Given the description of an element on the screen output the (x, y) to click on. 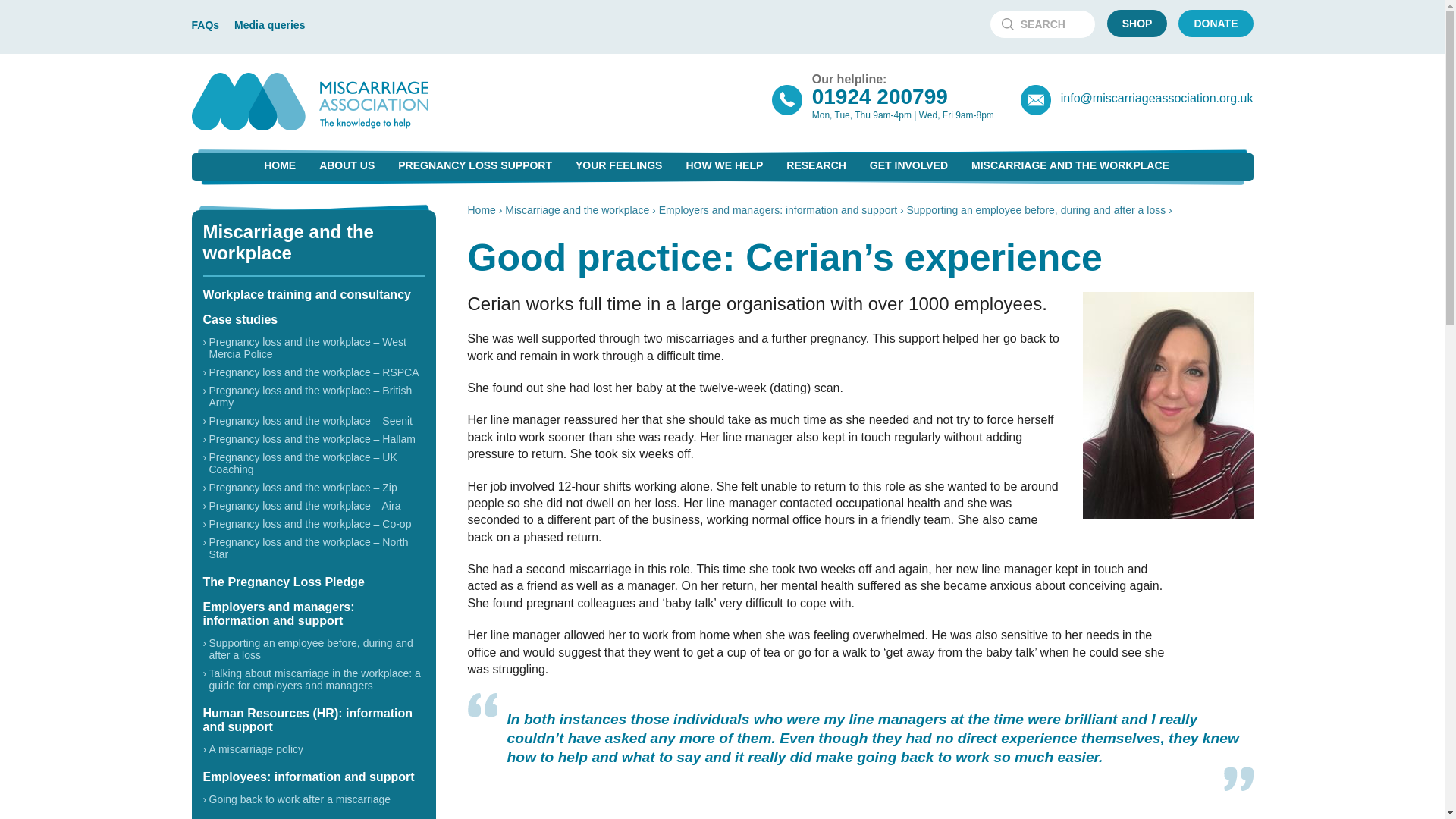
HOW WE HELP (723, 165)
ABOUT US (346, 165)
YOUR FEELINGS (618, 165)
FAQs (204, 24)
DONATE (1214, 22)
Media queries (269, 24)
01924 200799 (879, 96)
HOME (279, 165)
PREGNANCY LOSS SUPPORT (474, 165)
SHOP (1136, 22)
